Given the description of an element on the screen output the (x, y) to click on. 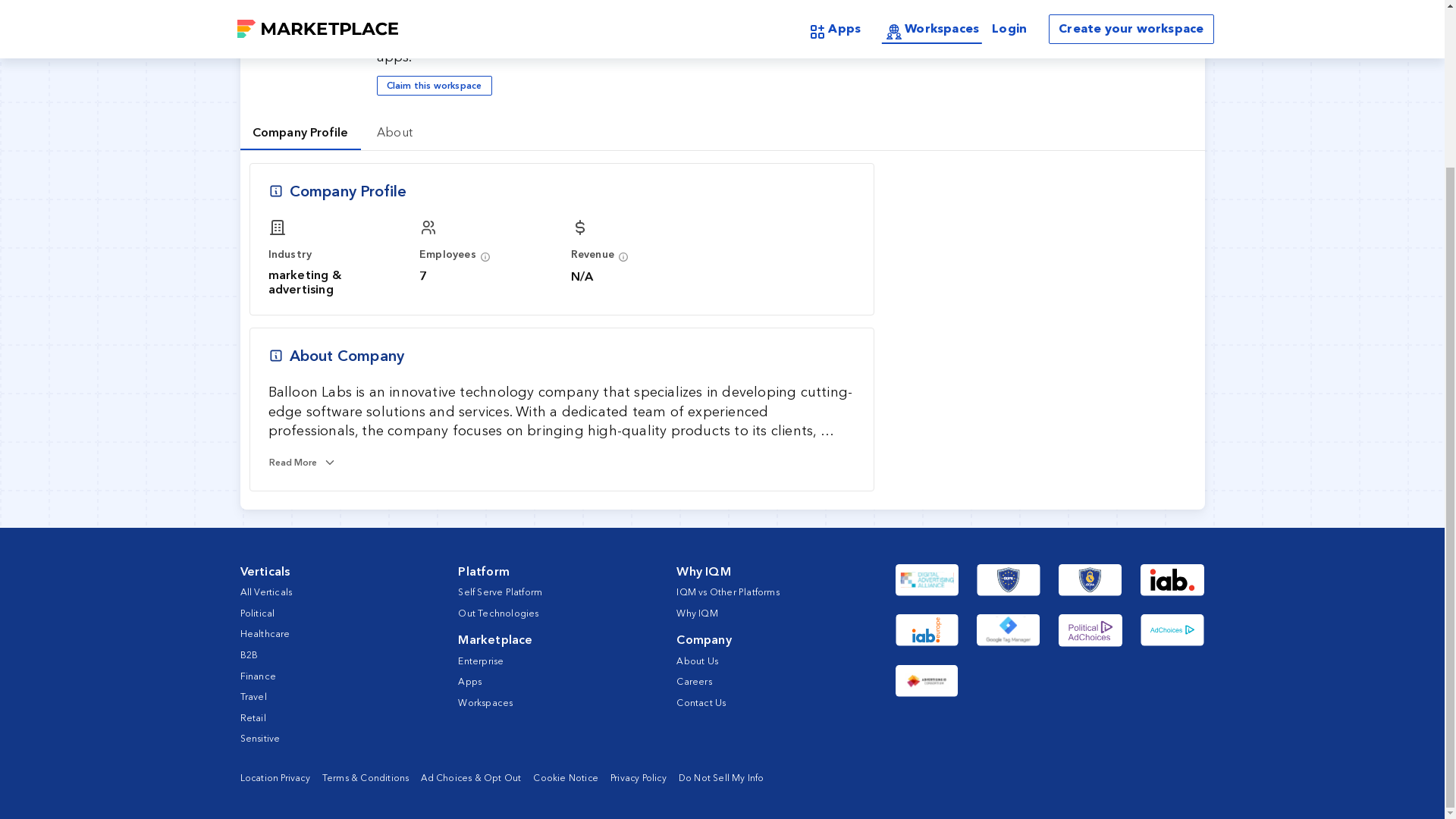
Contact Us (701, 702)
Self Serve Platform (499, 591)
Visit Site (1123, 5)
Political (257, 613)
Sensitive (259, 737)
About Us (697, 660)
Travel (253, 696)
Apps (469, 681)
Location Privacy (274, 777)
Claim this workspace (433, 85)
Workspaces (485, 702)
Company Profile (299, 131)
IQM vs Other Platforms (727, 591)
Retail (252, 717)
Why IQM (697, 613)
